Given the description of an element on the screen output the (x, y) to click on. 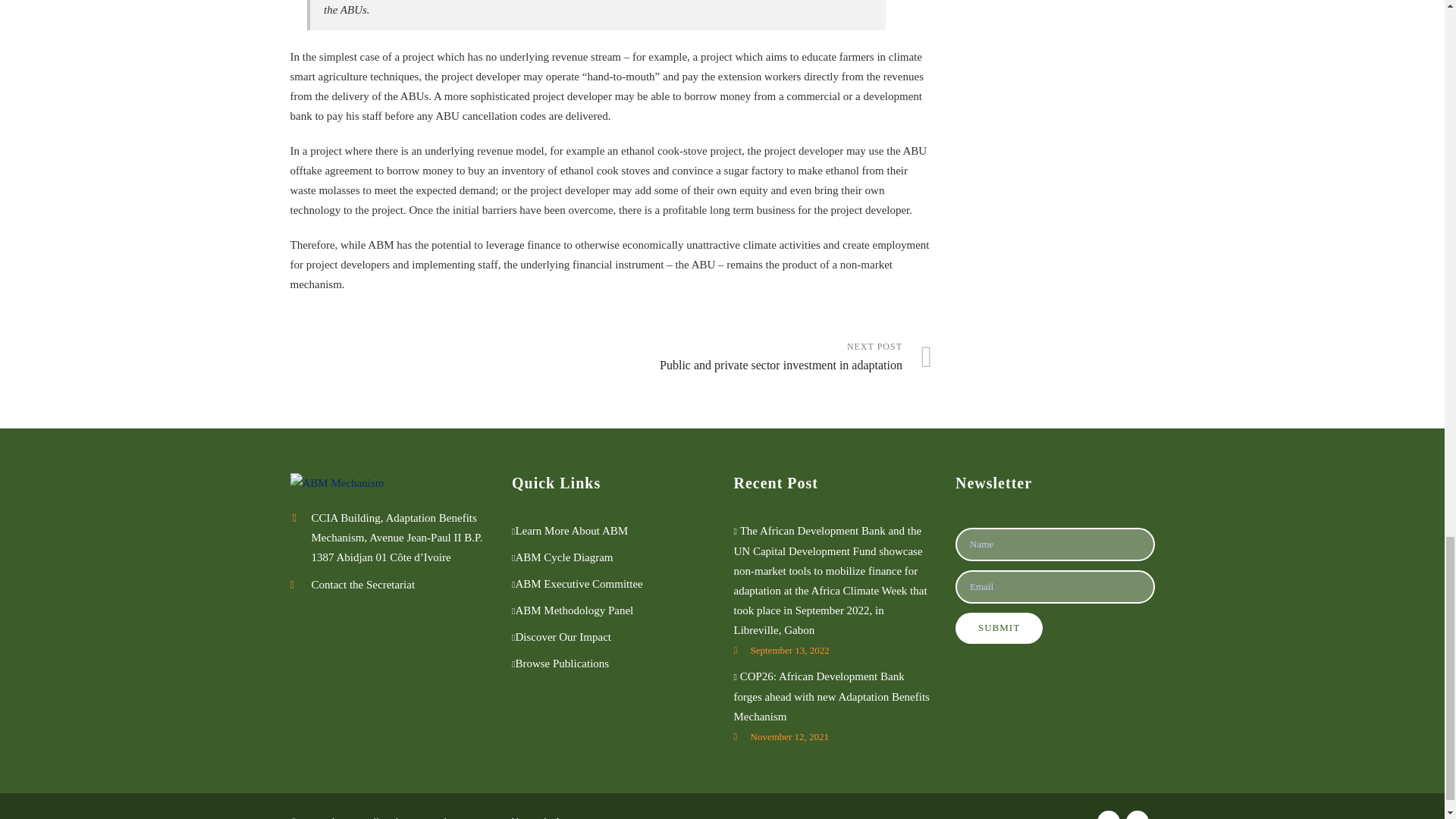
Name (772, 357)
Public and private sector investment in adaptation (1054, 544)
Email (772, 357)
